Given the description of an element on the screen output the (x, y) to click on. 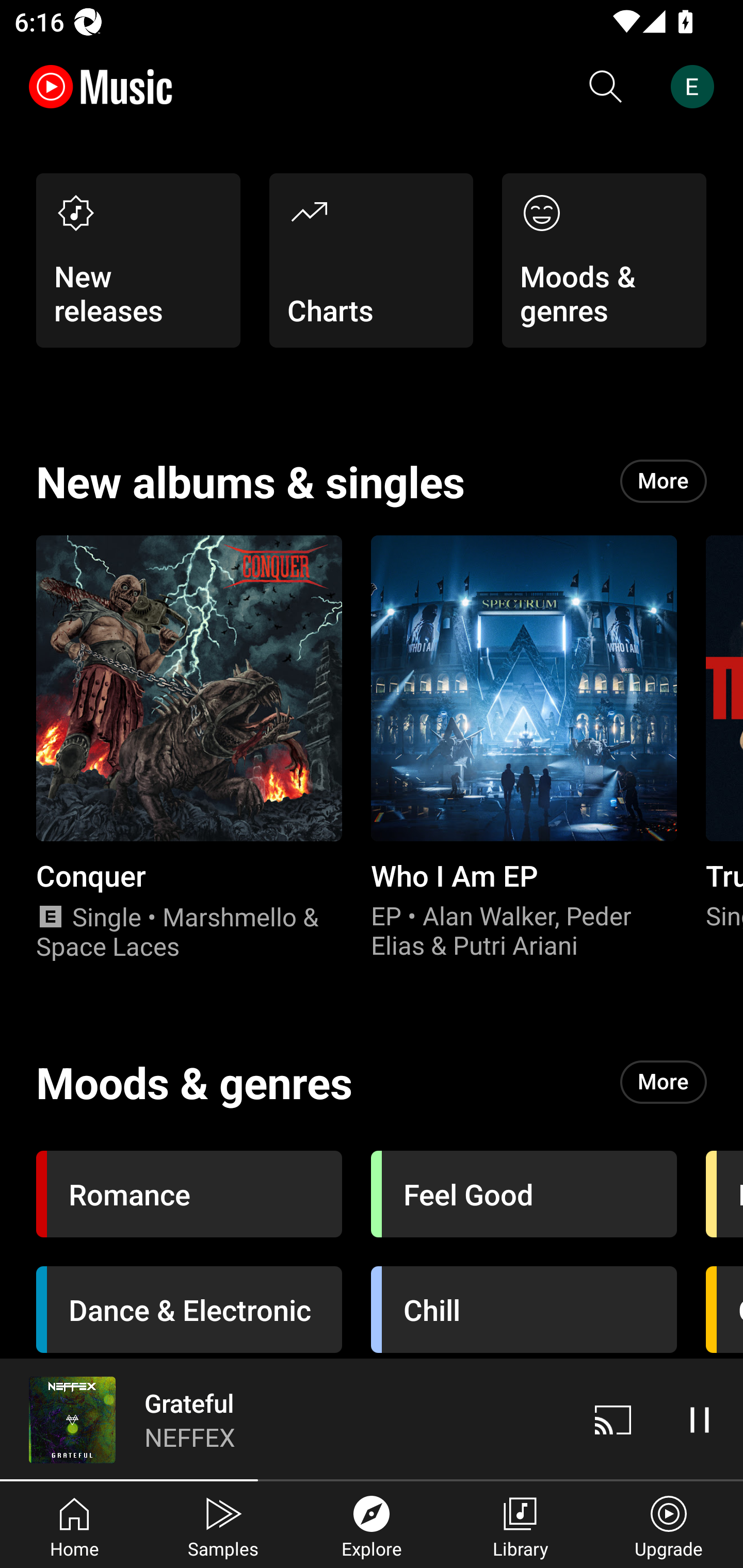
Search (605, 86)
Account (696, 86)
Cast. Disconnected (612, 1419)
Pause video (699, 1419)
Home (74, 1524)
Samples (222, 1524)
Library (519, 1524)
Upgrade (668, 1524)
